Given the description of an element on the screen output the (x, y) to click on. 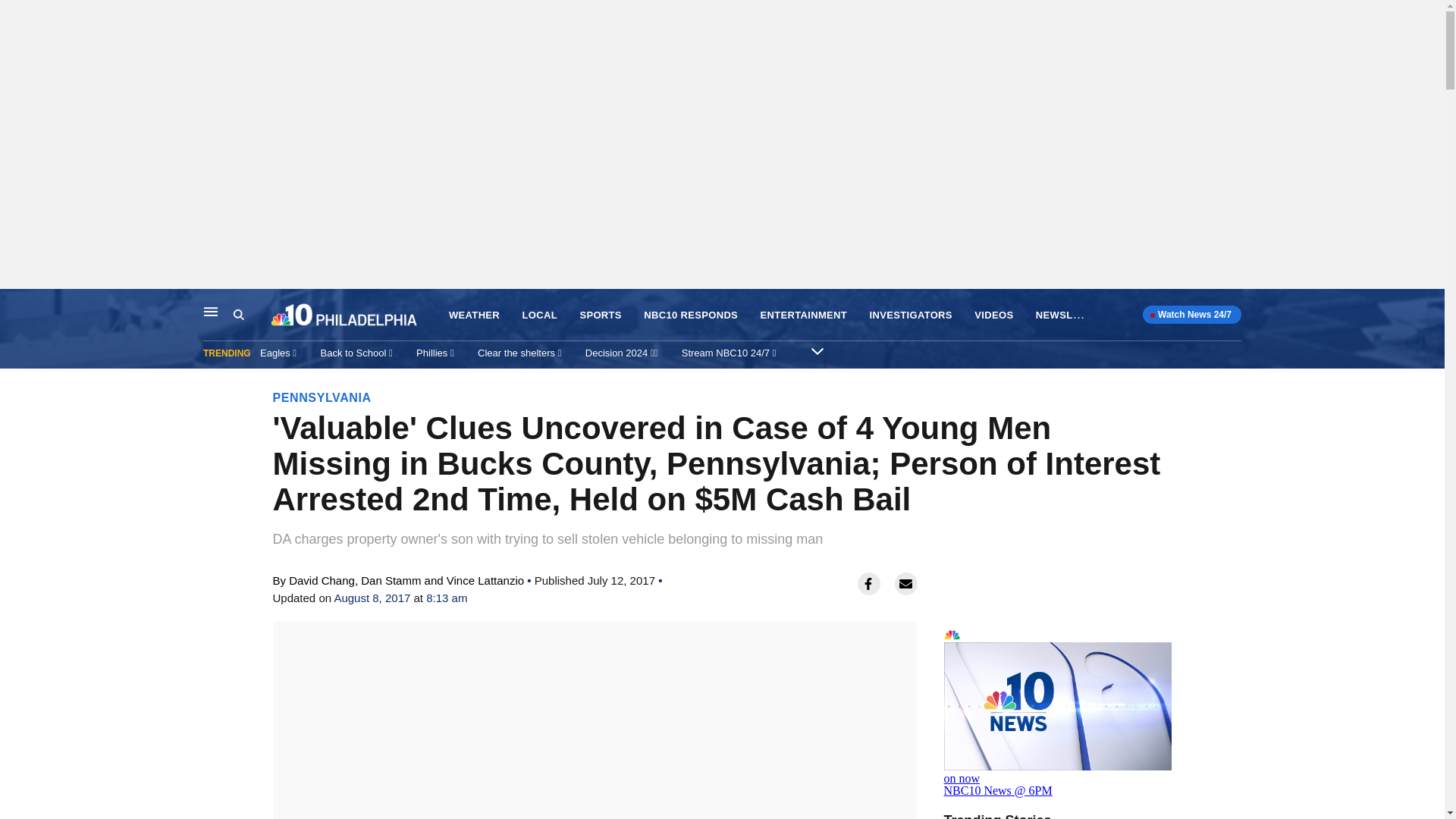
SPORTS (600, 315)
Search (238, 314)
Search (252, 314)
PENNSYLVANIA (322, 397)
Skip to content (16, 304)
Expand (817, 350)
VIDEOS (993, 315)
Main Navigation (210, 311)
INVESTIGATORS (910, 315)
WEATHER (473, 315)
